Given the description of an element on the screen output the (x, y) to click on. 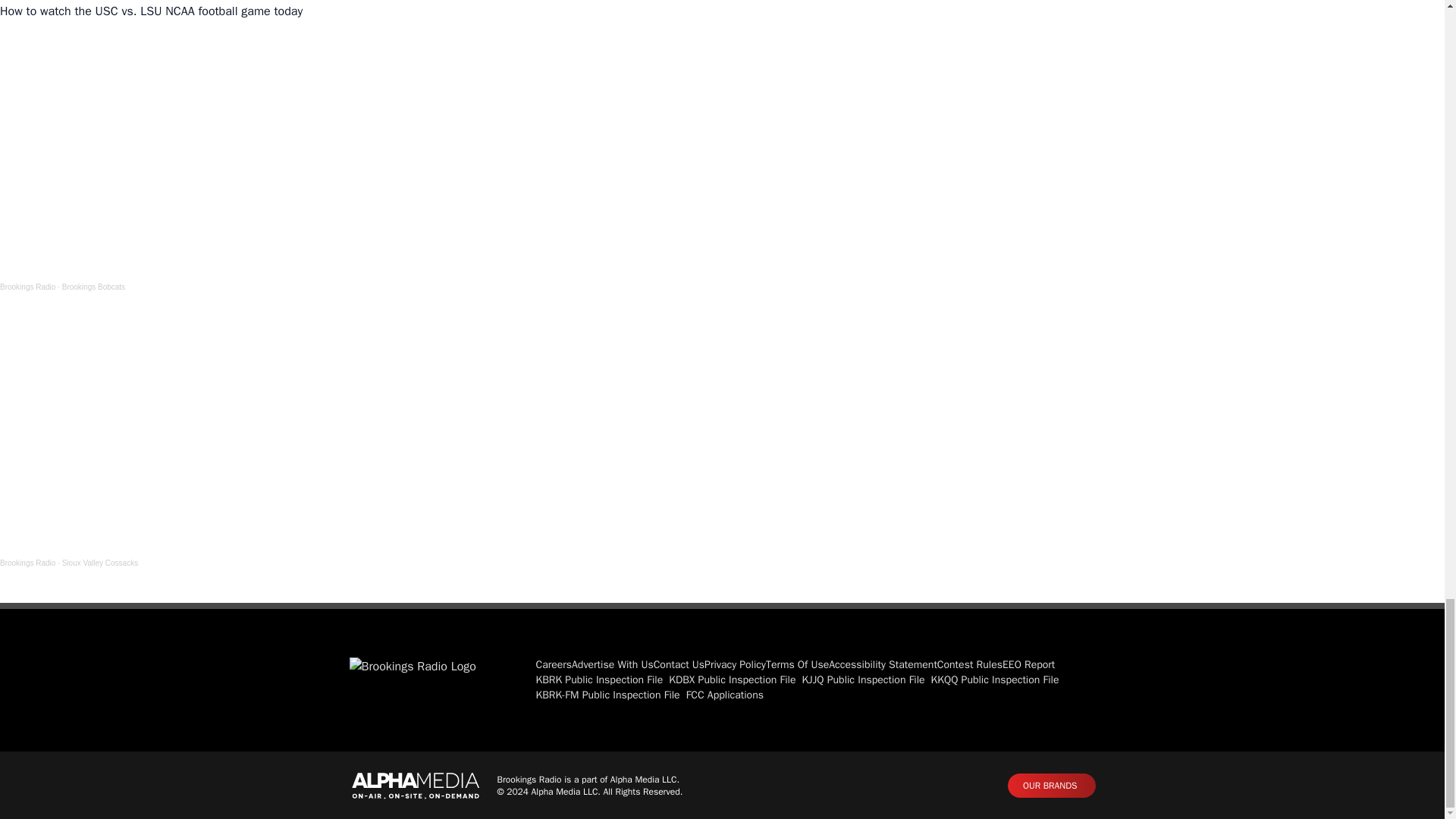
Sioux Valley Cossacks (100, 562)
Brookings Radio (27, 562)
Brookings Bobcats (93, 286)
Brookings Radio (27, 286)
